Given the description of an element on the screen output the (x, y) to click on. 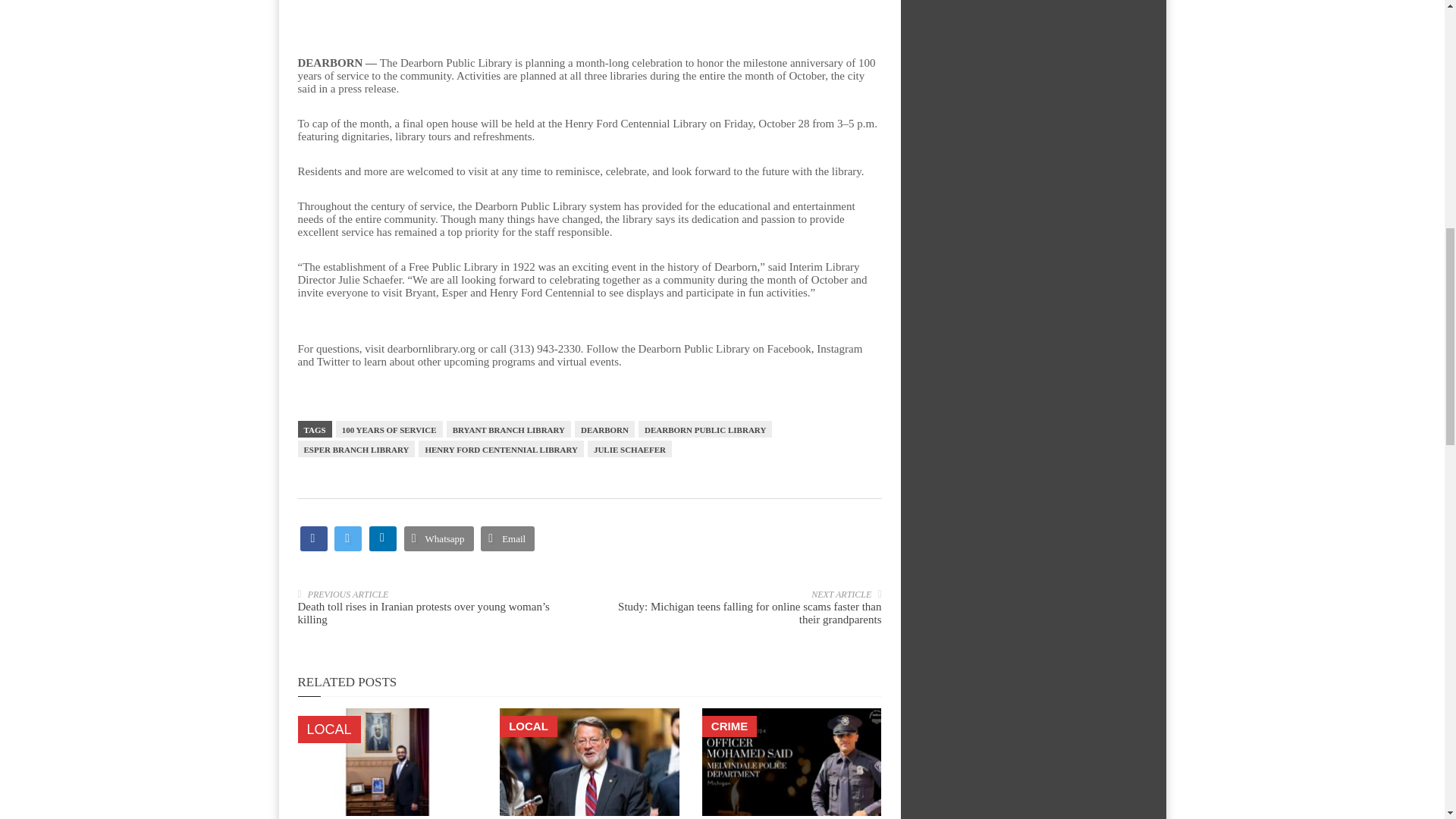
3rd party ad content (1032, 24)
3rd party ad content (1032, 167)
3rd party ad content (588, 12)
